Given the description of an element on the screen output the (x, y) to click on. 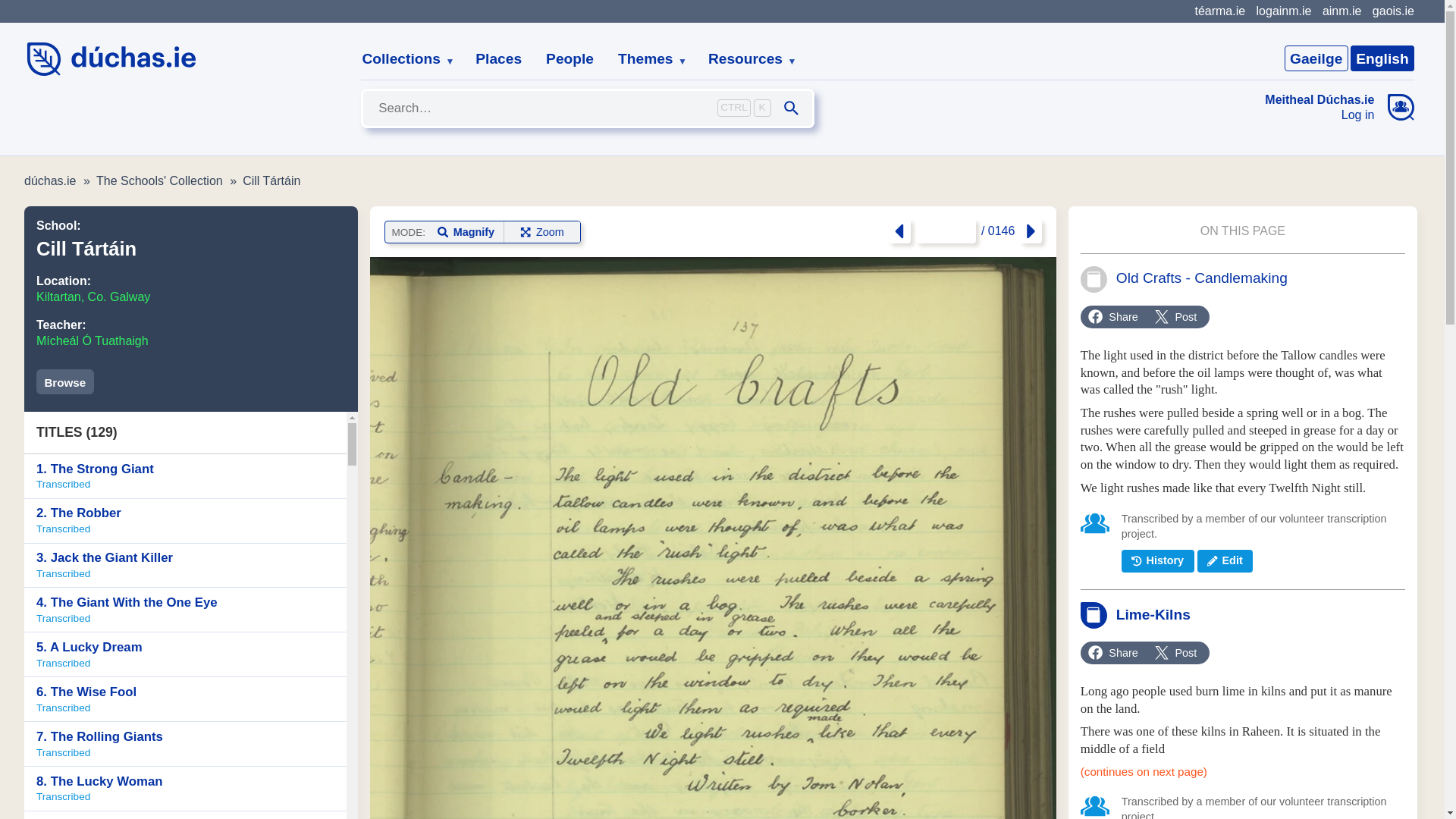
Browse (65, 381)
gaois.ie (1393, 11)
Log in (1319, 114)
Gaeilge (1316, 58)
The Schools' Collection (159, 180)
Themes (646, 59)
logainm.ie (185, 476)
Resources (1283, 11)
People (745, 59)
